Given the description of an element on the screen output the (x, y) to click on. 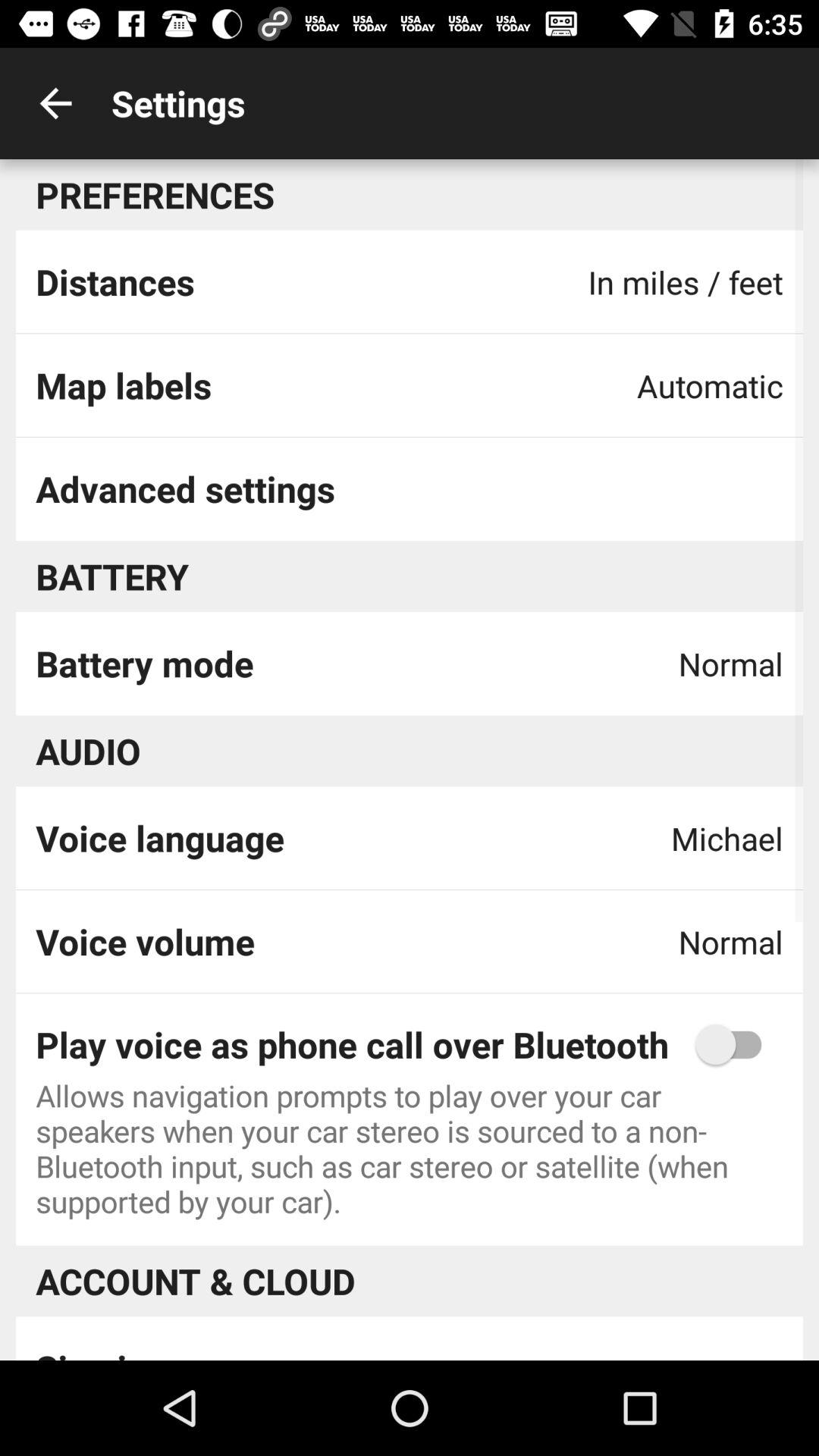
press the in miles / feet (685, 281)
